Given the description of an element on the screen output the (x, y) to click on. 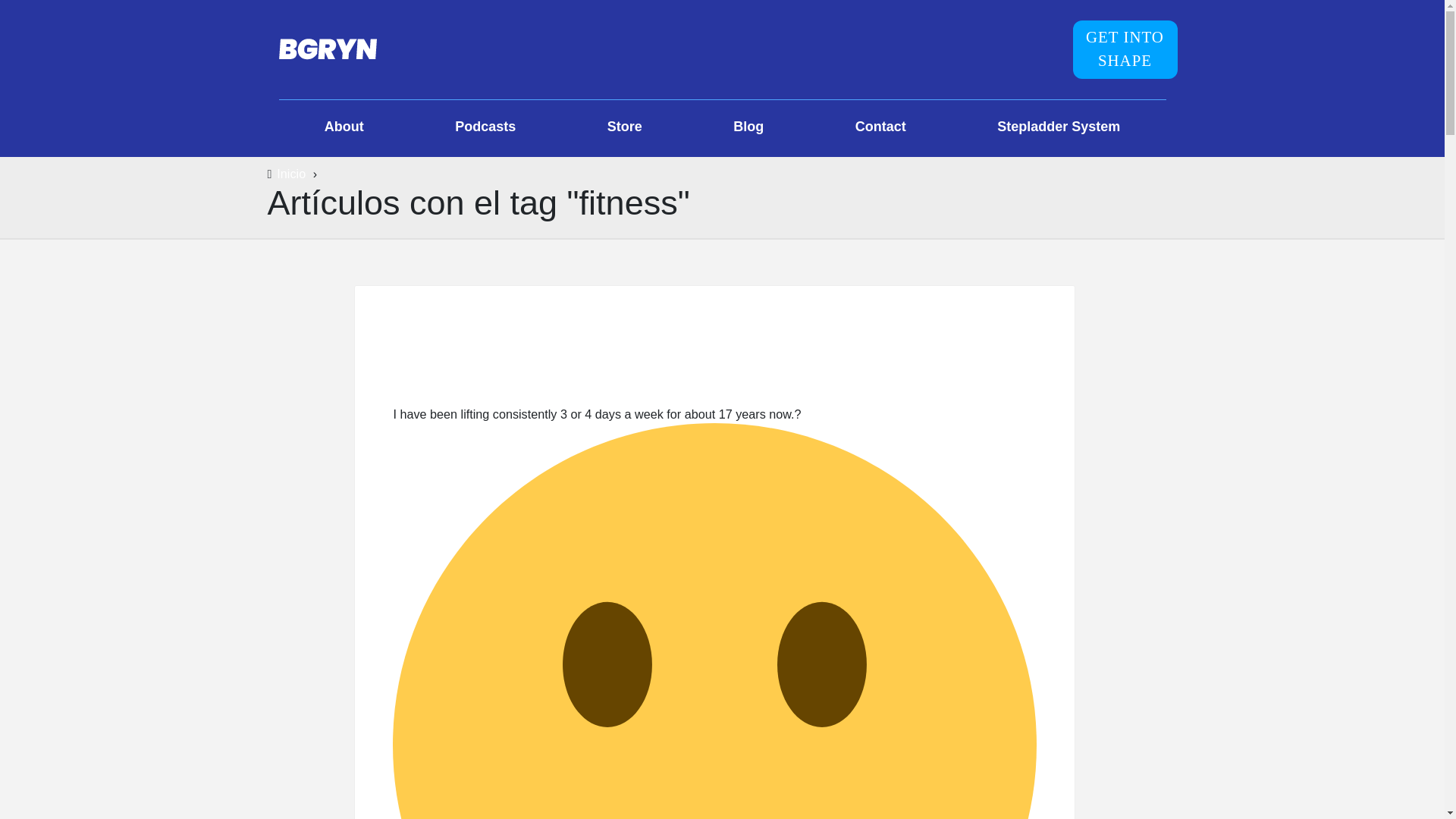
GET INTO SHAPE (1123, 49)
Stepladder System (1058, 128)
Podcasts (484, 128)
About (344, 128)
WHY YOU SHOULD ADD YOGA TO YOUR ROUTINE (714, 377)
Contact (880, 128)
Enviar (716, 364)
Store (624, 128)
Inicio (290, 173)
Blog (748, 128)
